Given the description of an element on the screen output the (x, y) to click on. 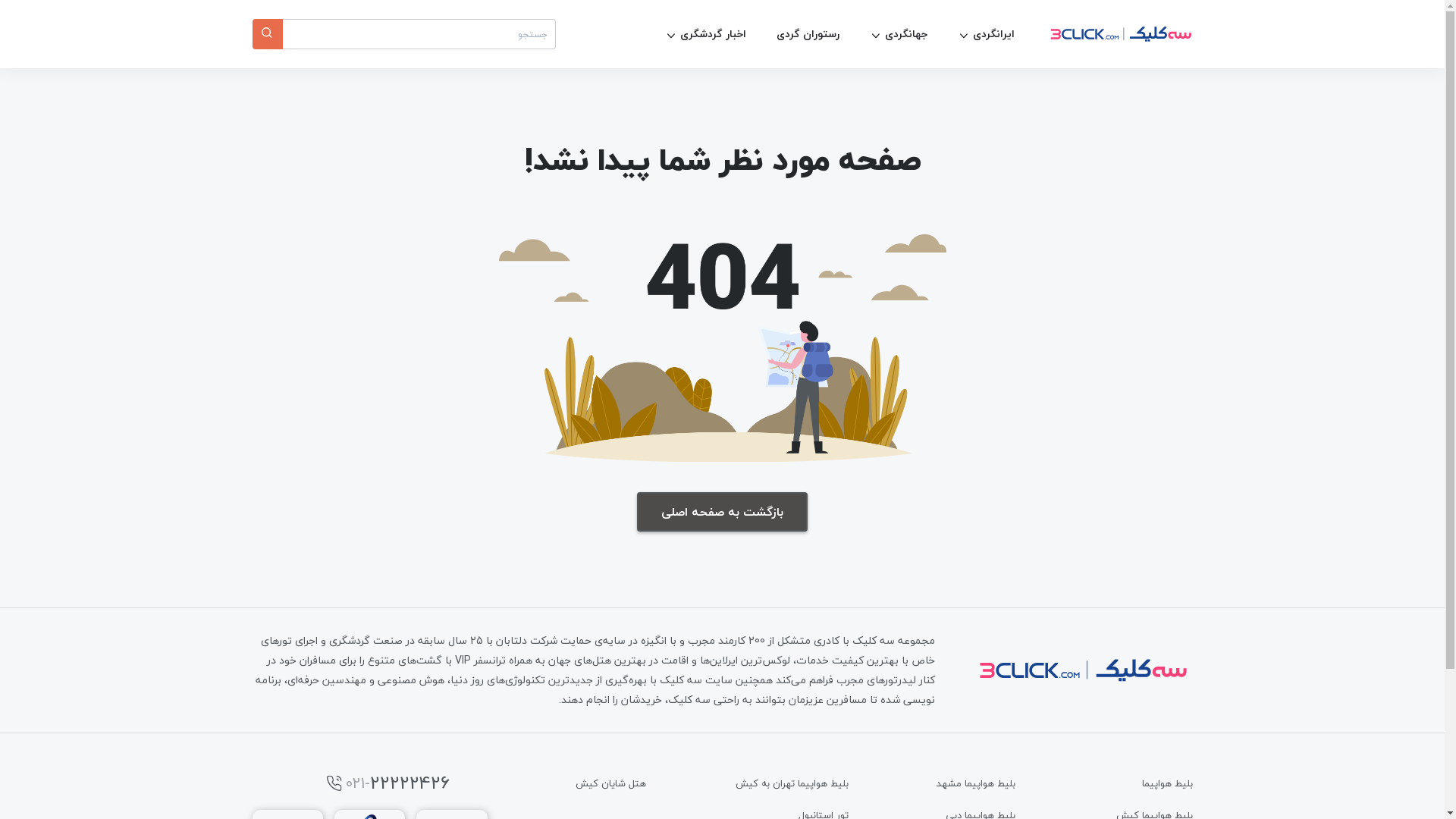
-021
22222426 Element type: text (380, 783)
